Given the description of an element on the screen output the (x, y) to click on. 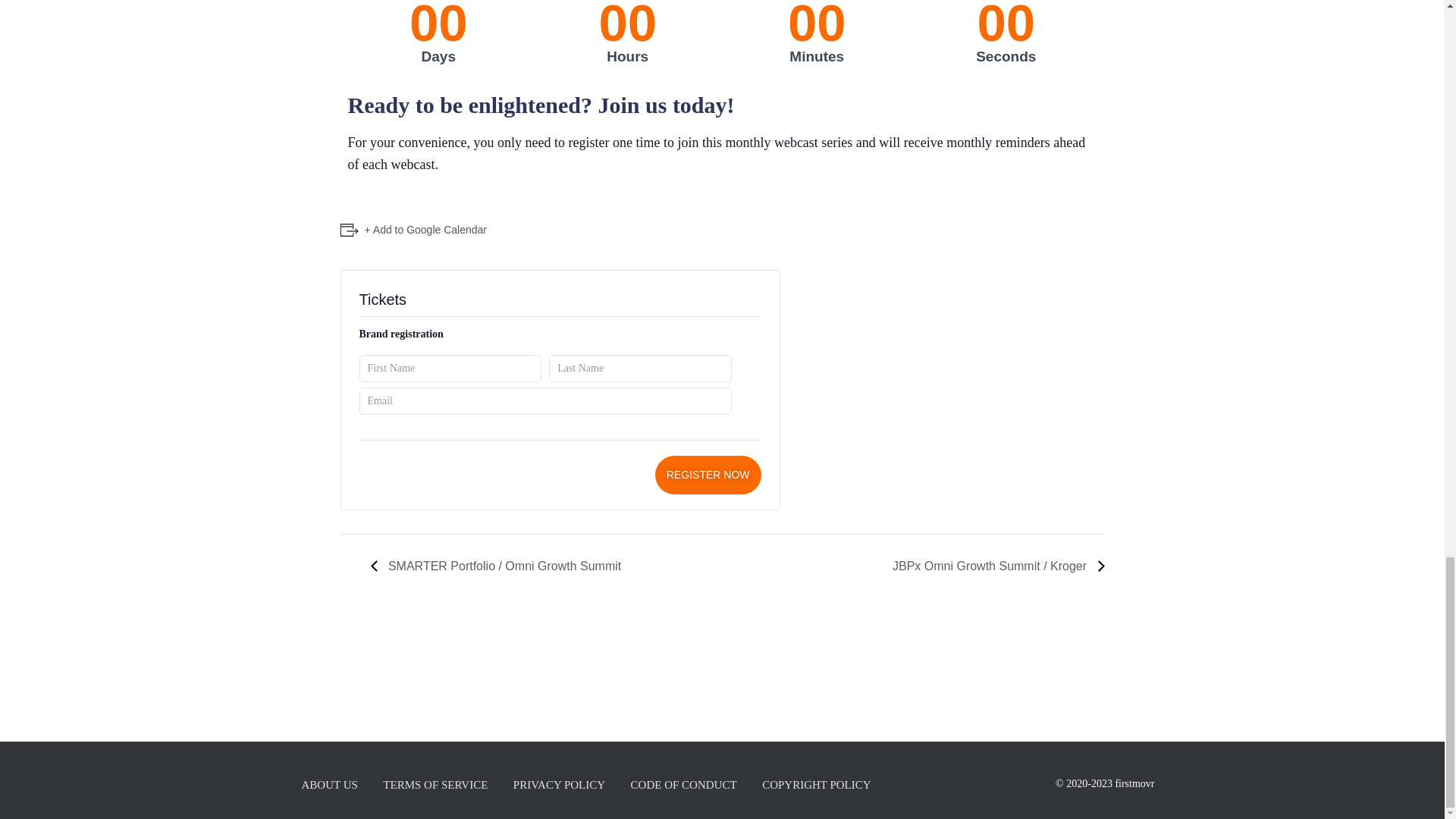
PRIVACY POLICY (558, 784)
CODE OF CONDUCT (684, 784)
ABOUT US (328, 784)
TERMS OF SERVICE (435, 784)
REGISTER NOW (708, 474)
COPYRIGHT POLICY (816, 784)
